Given the description of an element on the screen output the (x, y) to click on. 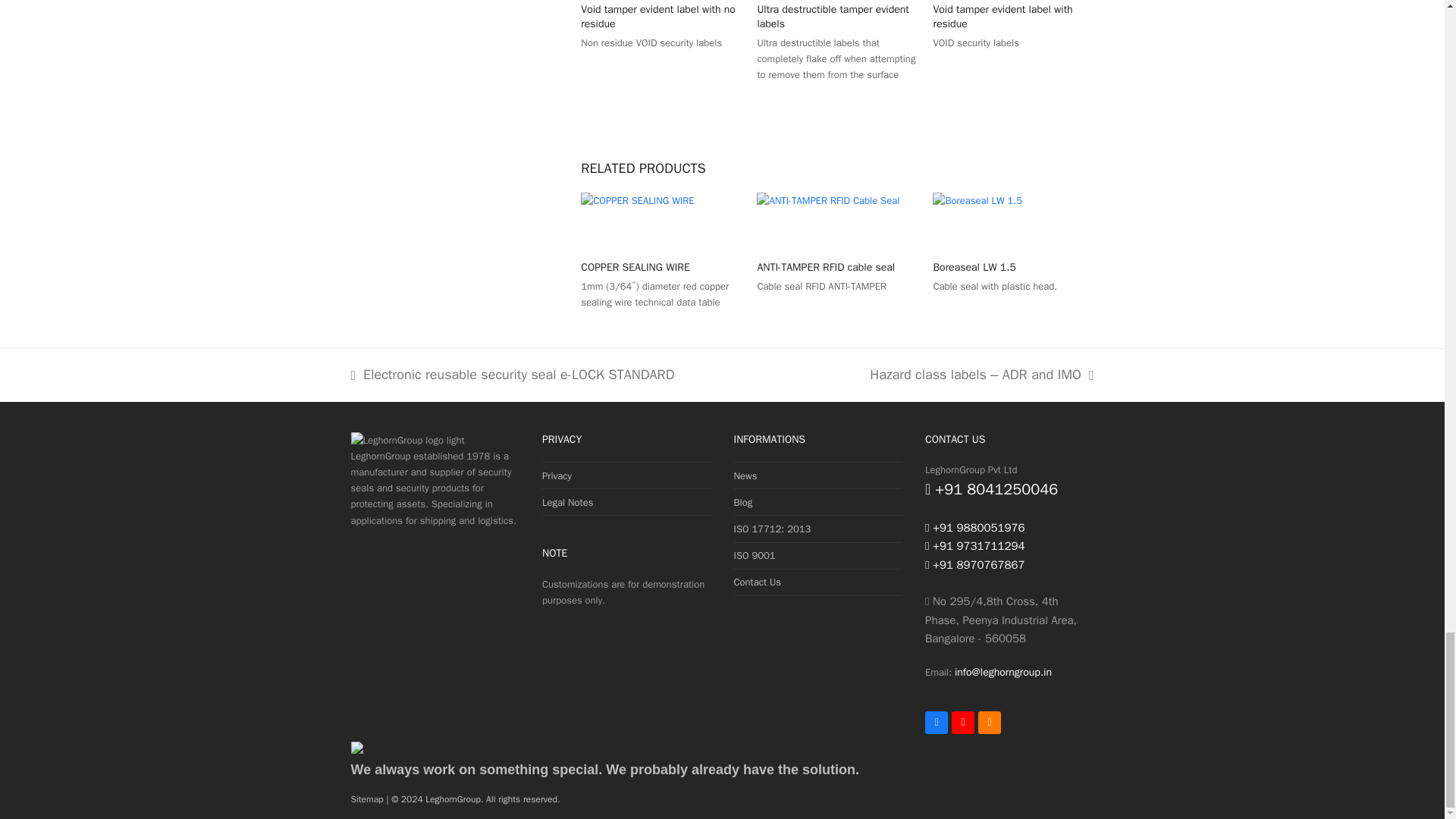
Facebook (935, 722)
YouTube (963, 722)
RSS (989, 722)
